Given the description of an element on the screen output the (x, y) to click on. 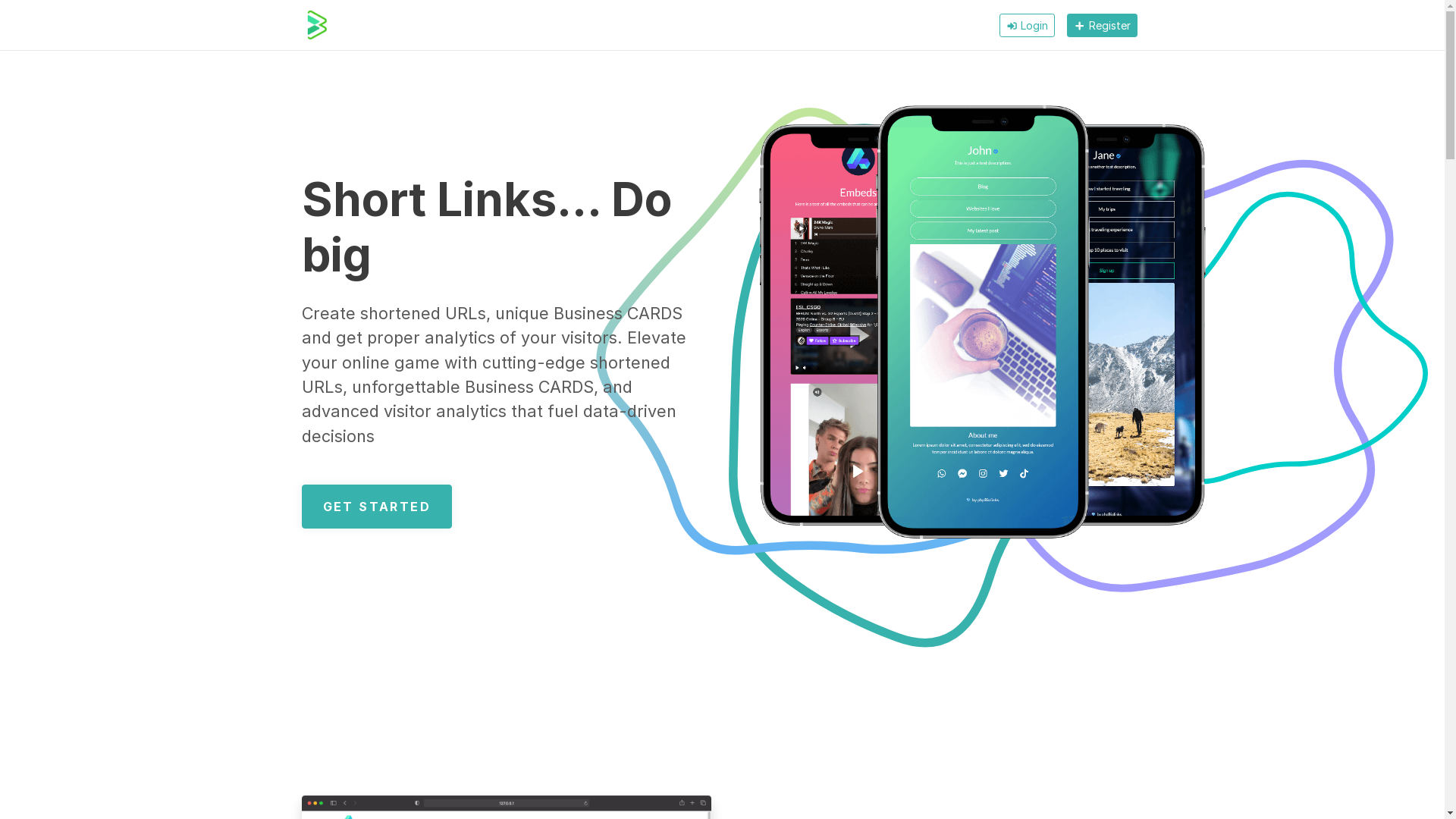
Login Element type: text (1026, 25)
Register Element type: text (1101, 25)
